Given the description of an element on the screen output the (x, y) to click on. 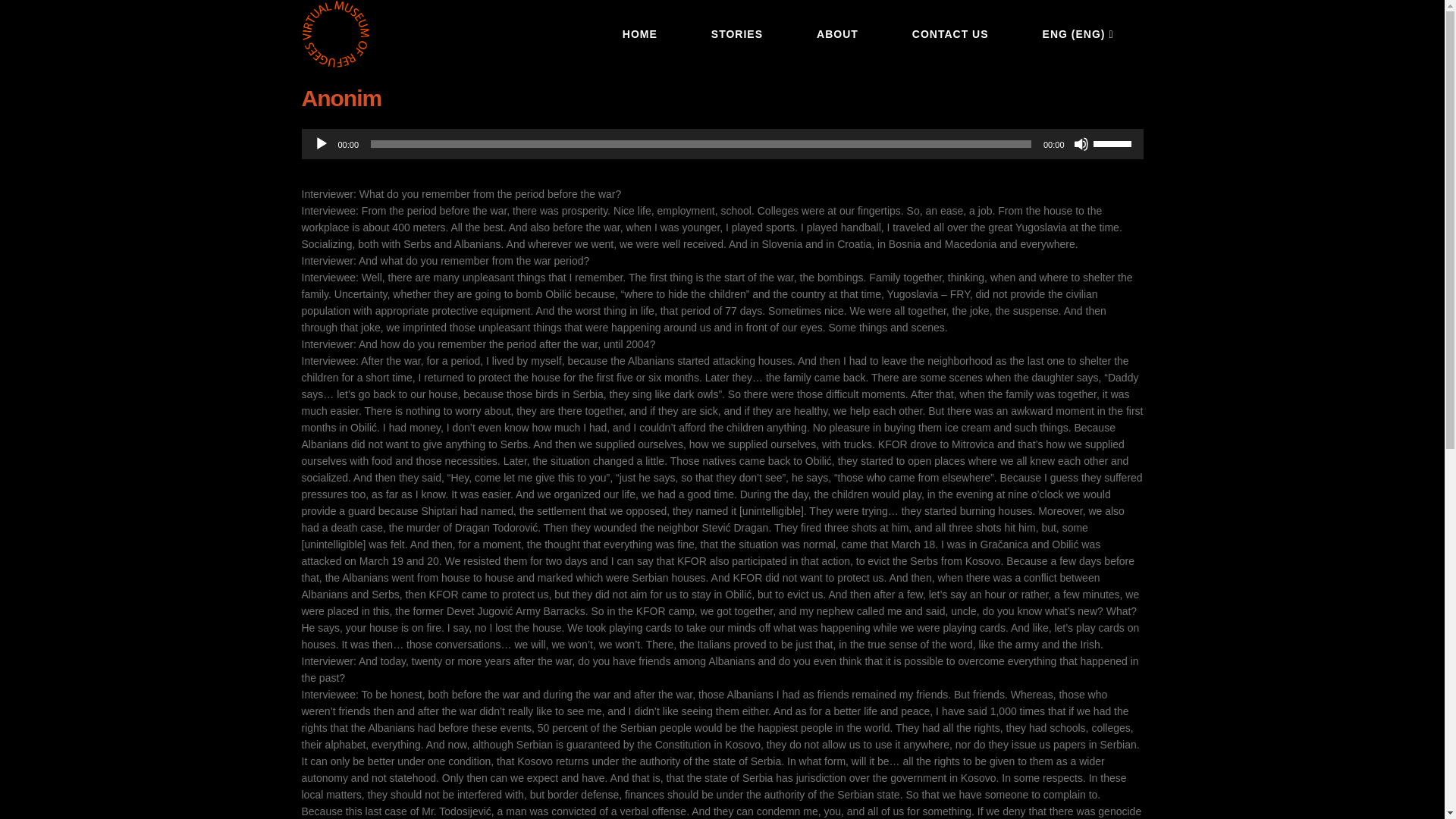
Mute (1081, 143)
Play (321, 143)
STORIES (736, 33)
Museum of Refugees Kosovo -  (335, 33)
ENG (1078, 33)
ABOUT (837, 33)
HOME (639, 33)
CONTACT US (949, 33)
